Given the description of an element on the screen output the (x, y) to click on. 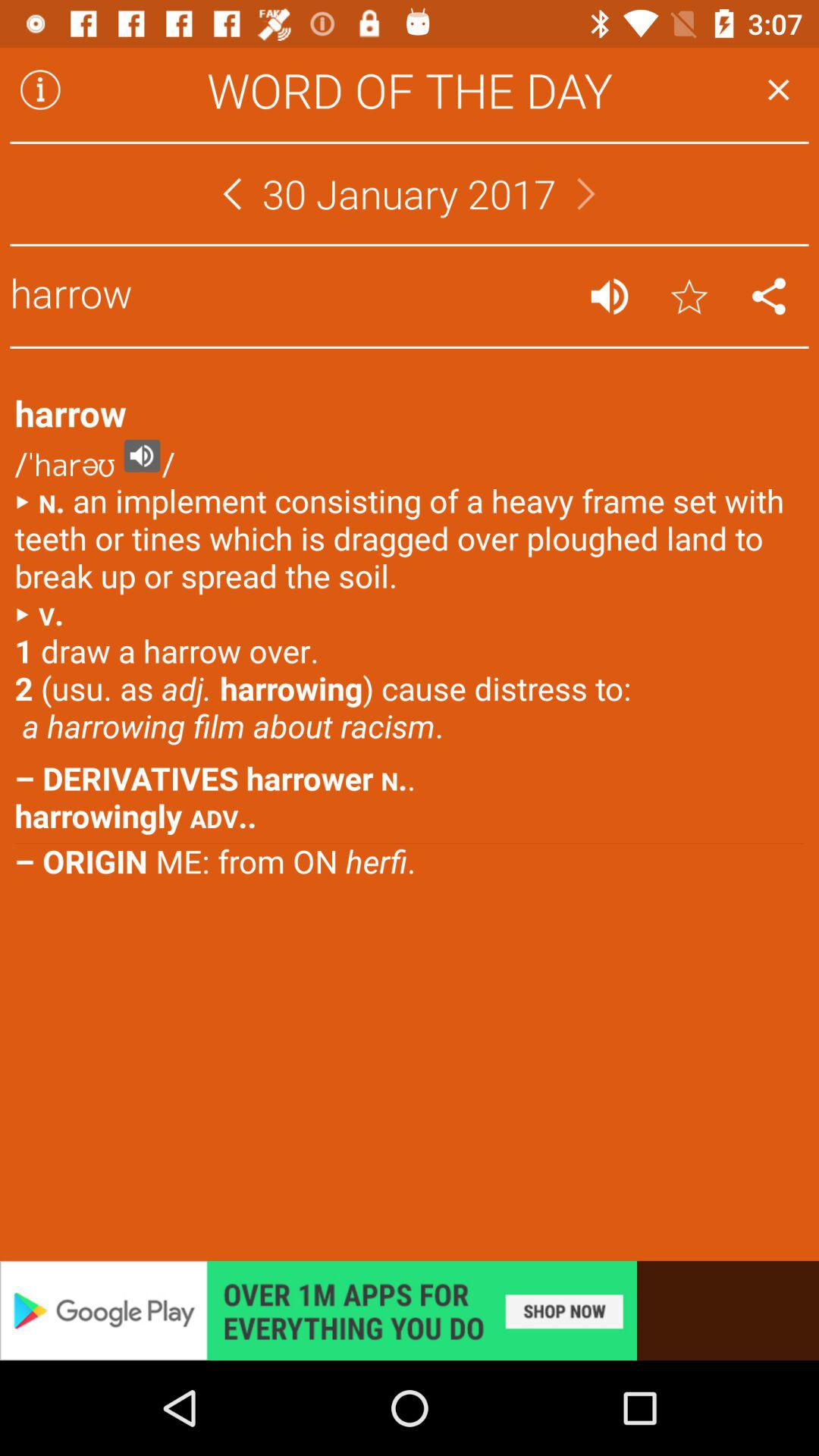
save (689, 296)
